Given the description of an element on the screen output the (x, y) to click on. 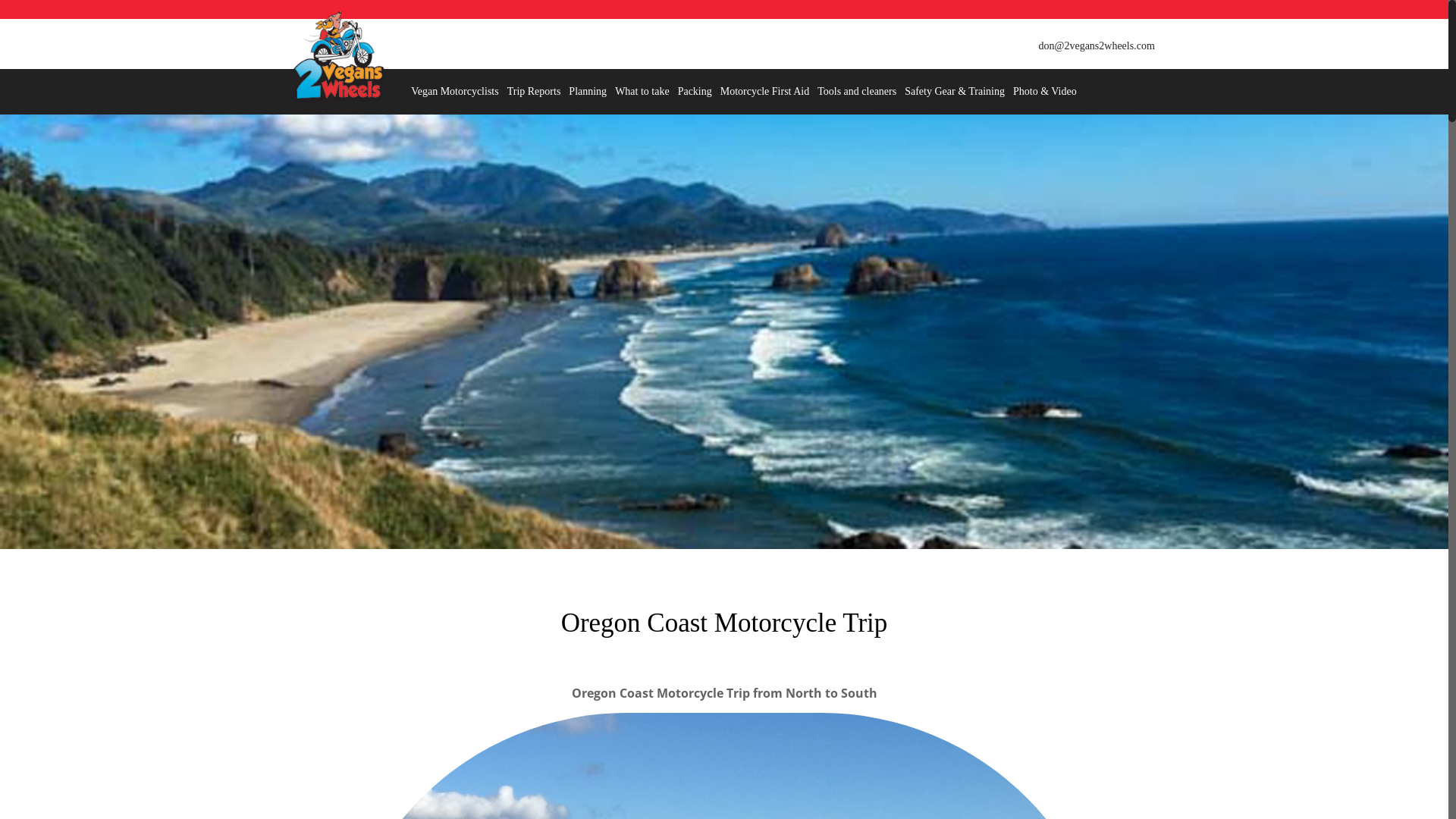
Motorcycle First Aid Element type: text (764, 91)
Safety Gear & Training Element type: text (954, 91)
Tools and cleaners Element type: text (856, 91)
Photo & Video Element type: text (1044, 91)
Packing Element type: text (695, 91)
Vegan Motorcyclists Element type: text (454, 91)
Planning Element type: text (587, 91)
2vegans2wheels Element type: hover (338, 56)
don@2vegans2wheels.com Element type: text (1096, 45)
What to take Element type: text (642, 91)
Trip Reports Element type: text (534, 91)
